Given the description of an element on the screen output the (x, y) to click on. 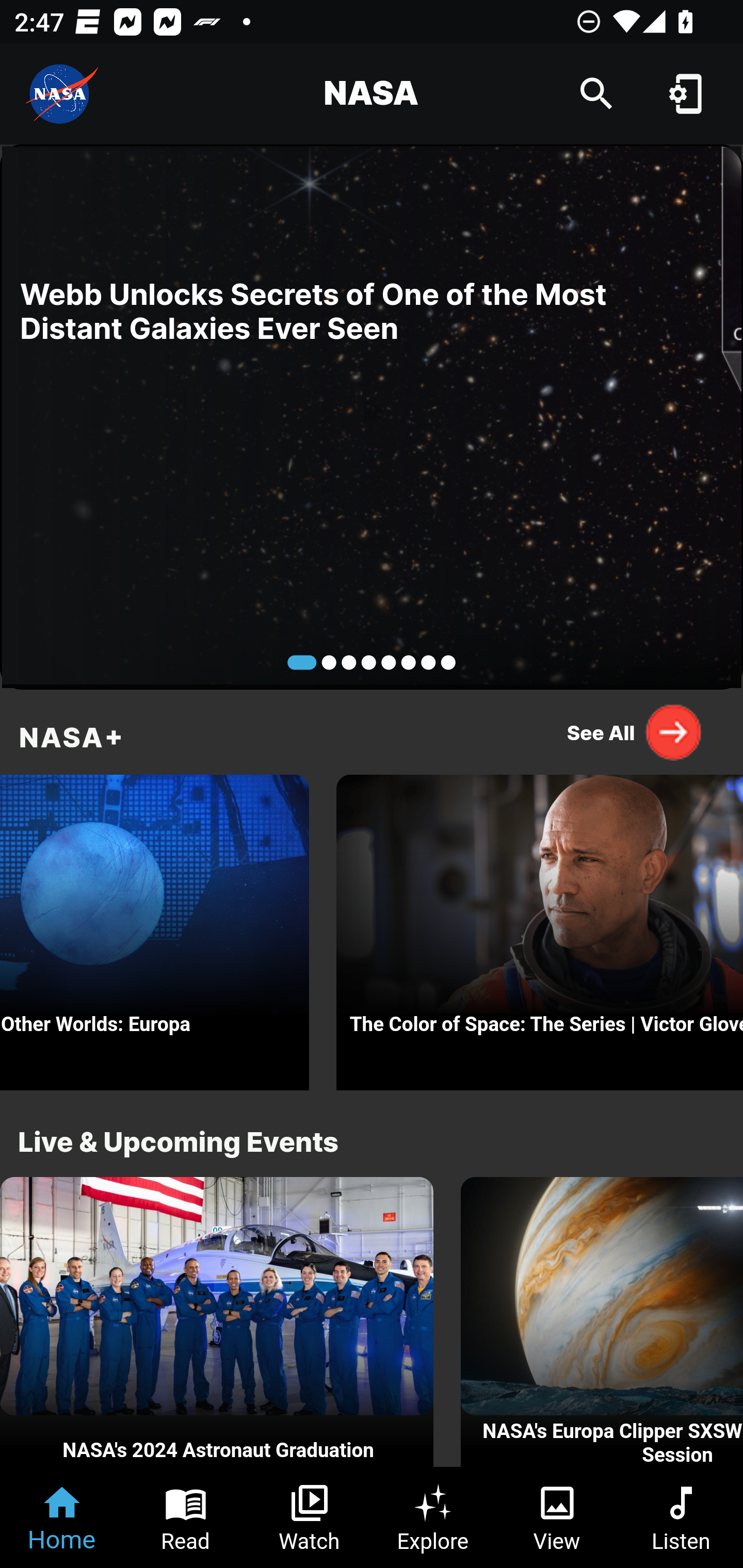
See All (634, 732)
Other Worlds: Europa (154, 927)
The Color of Space: The Series | Victor Glover (539, 927)
NASA's 2024 Astronaut Graduation (216, 1322)
NASA's Europa Clipper SXSW 2024 Opening Session (601, 1322)
Home
Tab 1 of 6 (62, 1517)
Read
Tab 2 of 6 (185, 1517)
Watch
Tab 3 of 6 (309, 1517)
Explore
Tab 4 of 6 (433, 1517)
View
Tab 5 of 6 (556, 1517)
Listen
Tab 6 of 6 (680, 1517)
